Given the description of an element on the screen output the (x, y) to click on. 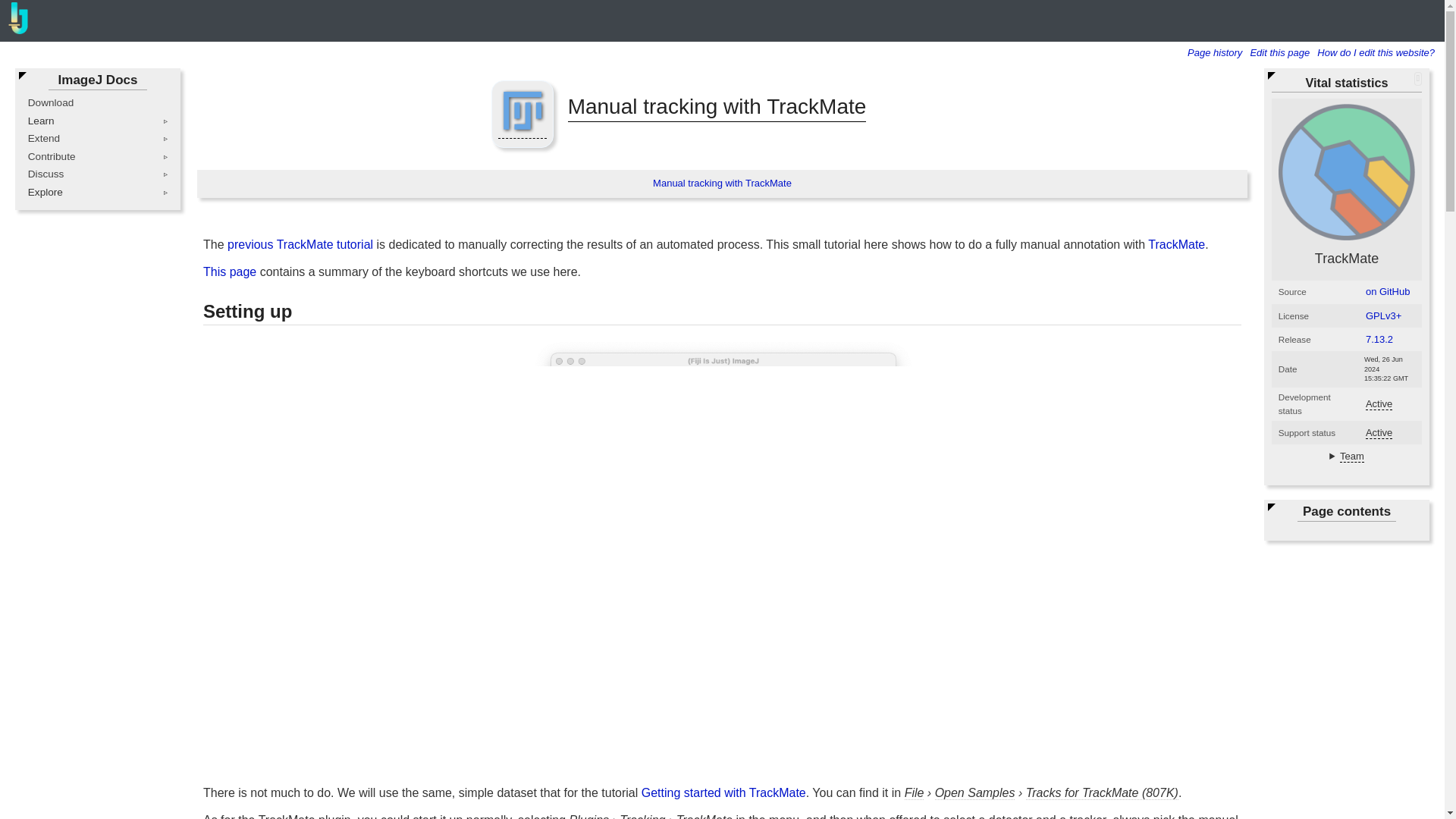
Edit this page (1281, 52)
How do I edit this website? (1378, 52)
Download (50, 102)
Page history (1217, 52)
